Given the description of an element on the screen output the (x, y) to click on. 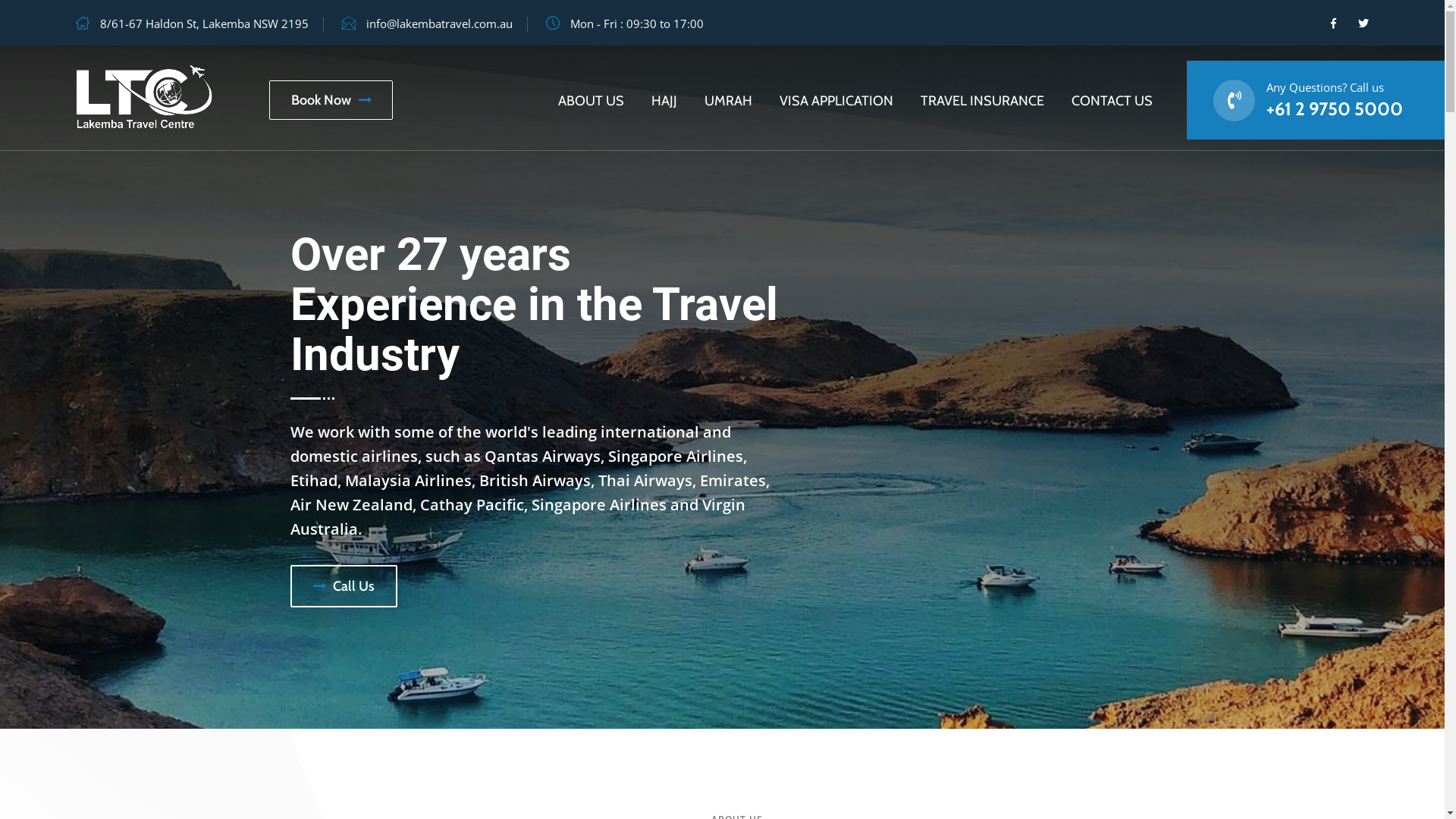
Book Now Element type: text (330, 99)
CONTACT US Element type: text (1111, 100)
TRAVEL INSURANCE Element type: text (982, 100)
HAJJ Element type: text (664, 100)
+61 2 9750 5000 Element type: text (1334, 108)
Call Us Element type: text (342, 585)
ABOUT US Element type: text (591, 100)
UMRAH Element type: text (728, 100)
VISA APPLICATION Element type: text (836, 100)
